Given the description of an element on the screen output the (x, y) to click on. 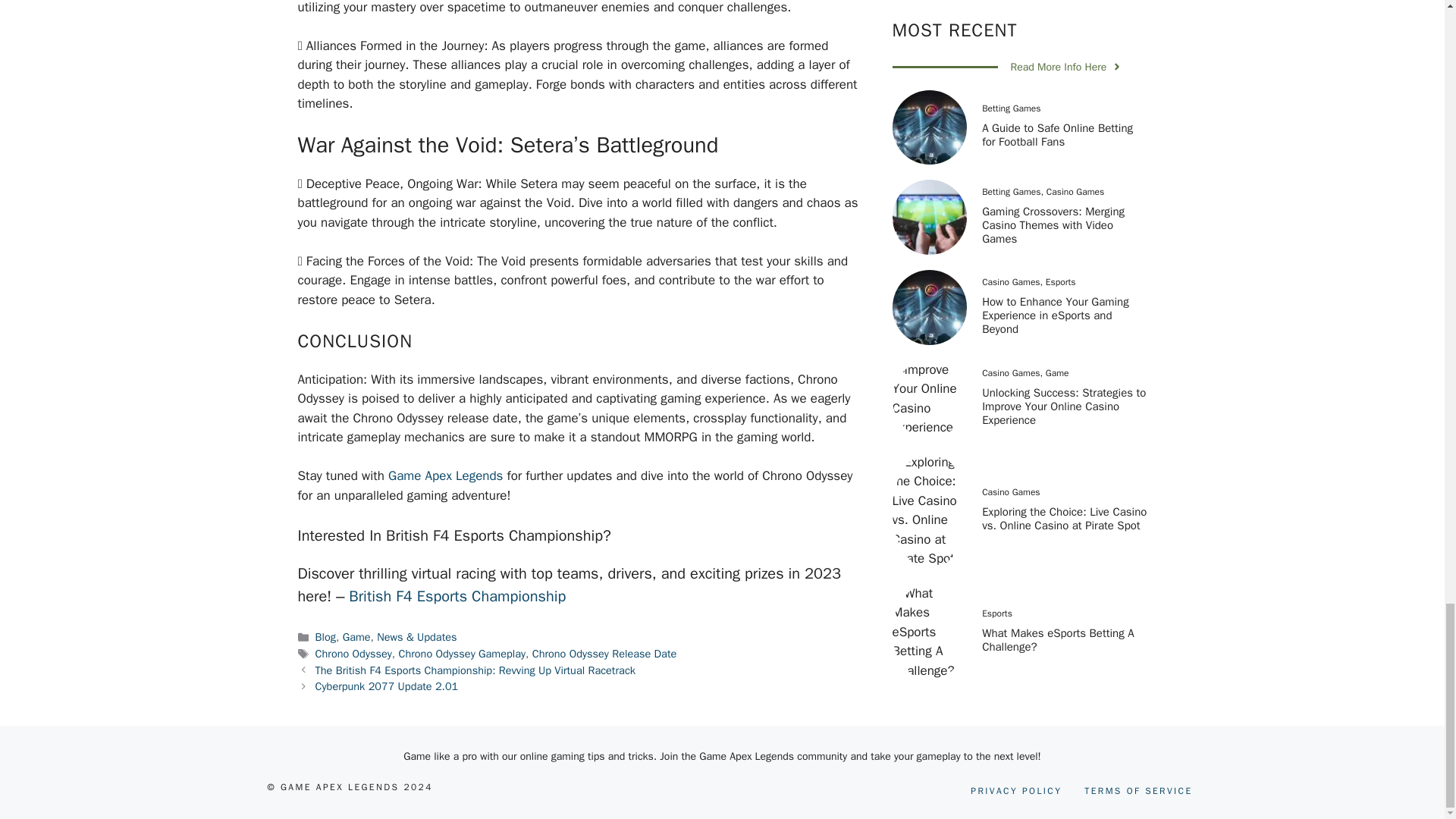
Blog (325, 636)
Game (356, 636)
Game Apex Legends (445, 475)
British F4 Esports Championship (457, 596)
Chrono Odyssey Gameplay (461, 653)
Chrono Odyssey Release Date (604, 653)
Chrono Odyssey (353, 653)
